Given the description of an element on the screen output the (x, y) to click on. 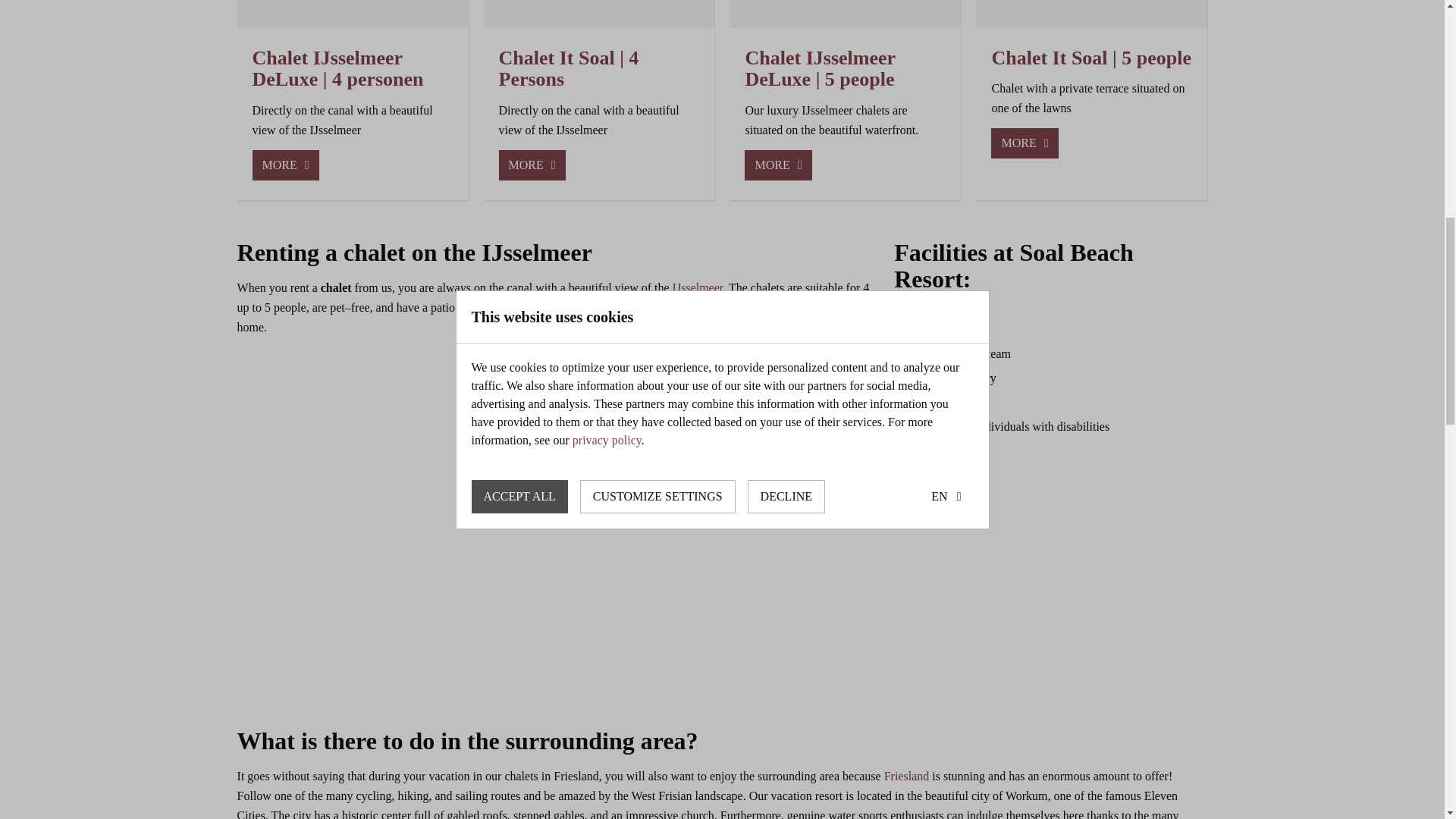
chalet Friesland at the water (668, 523)
rent chalet Friesland (398, 584)
chalet for rent Friesland (1100, 523)
rent chalet Friesland (1045, 645)
vakantiepark Friesland (906, 775)
holiday chalet Friesland (883, 523)
rent chalet Friesland (721, 645)
vakantiepark IJsselmeer (697, 287)
